Given the description of an element on the screen output the (x, y) to click on. 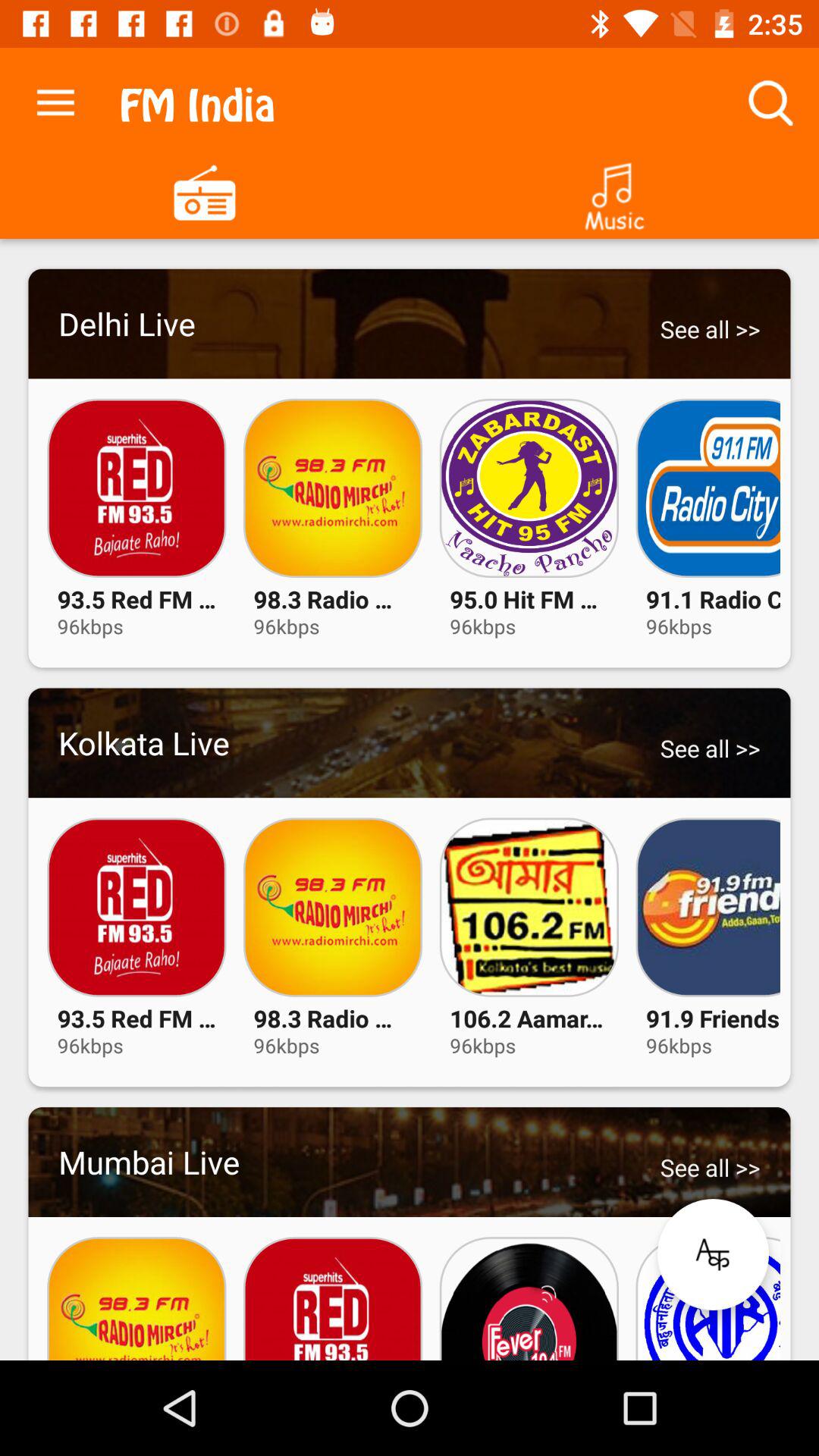
change the app language (712, 1254)
